Given the description of an element on the screen output the (x, y) to click on. 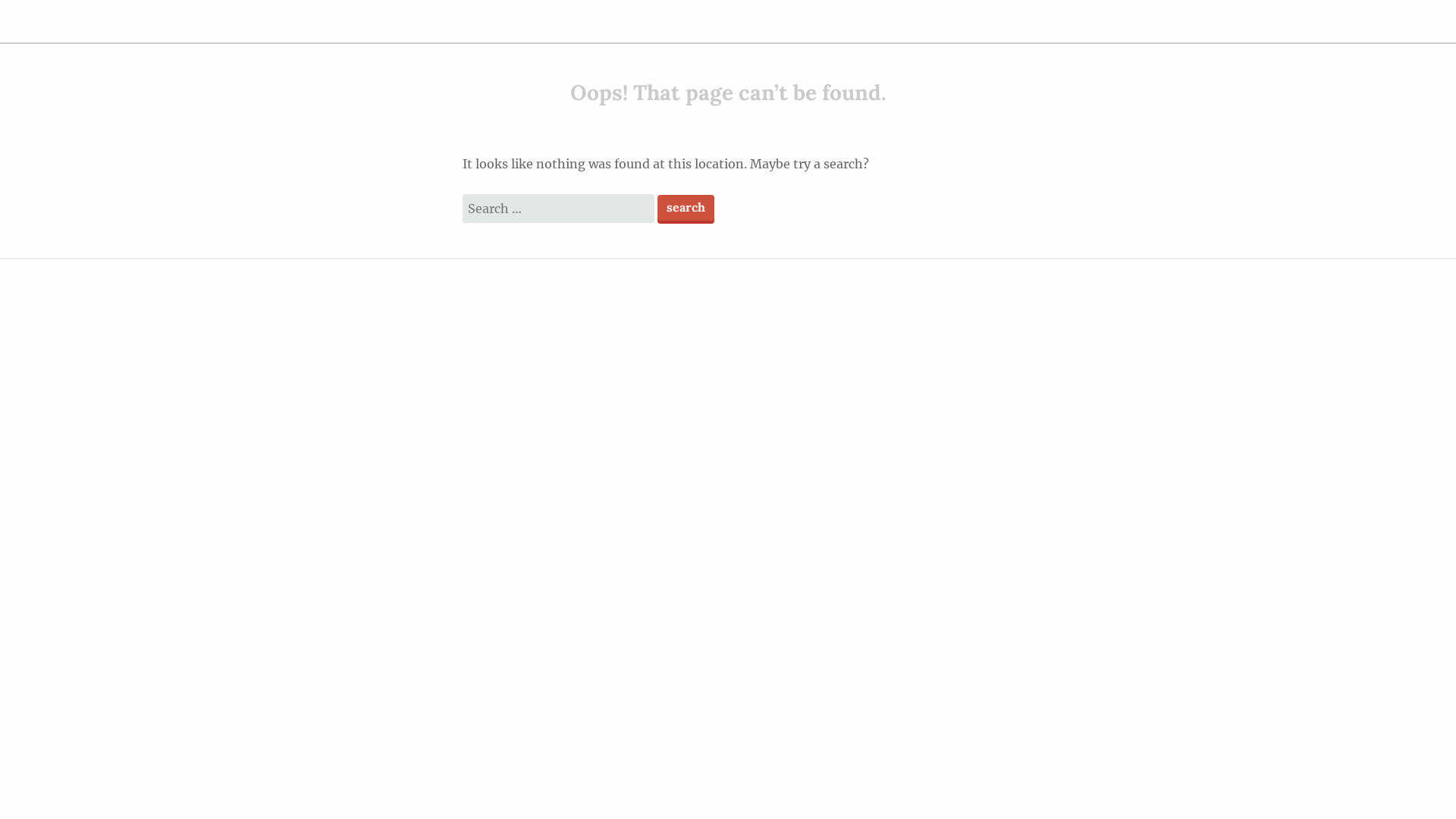
Search Element type: text (685, 207)
